Given the description of an element on the screen output the (x, y) to click on. 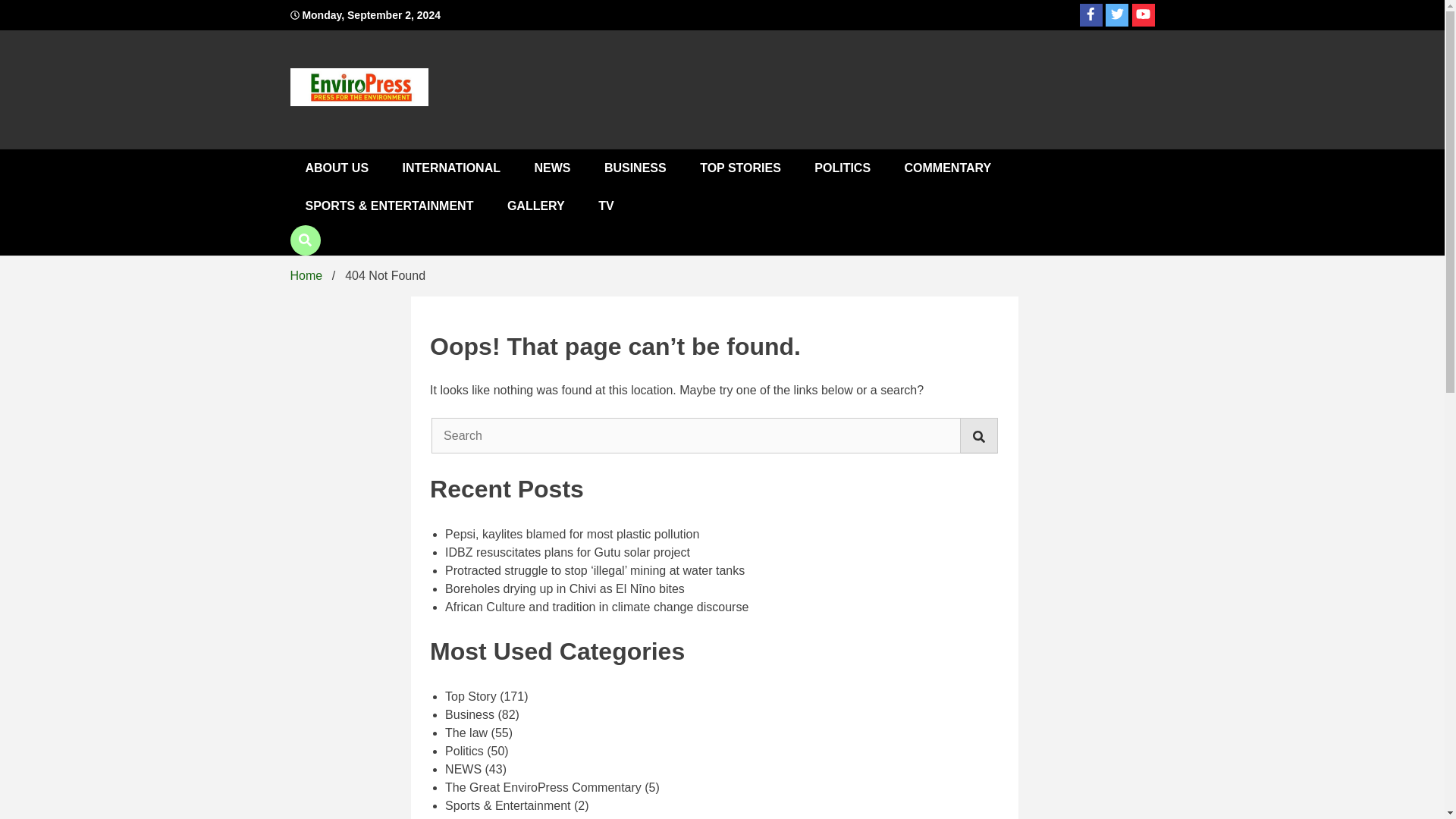
The Great EnviroPress Commentary (543, 787)
African Culture and tradition in climate change discourse (596, 606)
IDBZ resuscitates plans for Gutu solar project (567, 552)
Top Story (470, 696)
TV (605, 206)
BUSINESS (635, 168)
The law (466, 732)
Politics (464, 750)
Home (305, 275)
NEWS (551, 168)
